Given the description of an element on the screen output the (x, y) to click on. 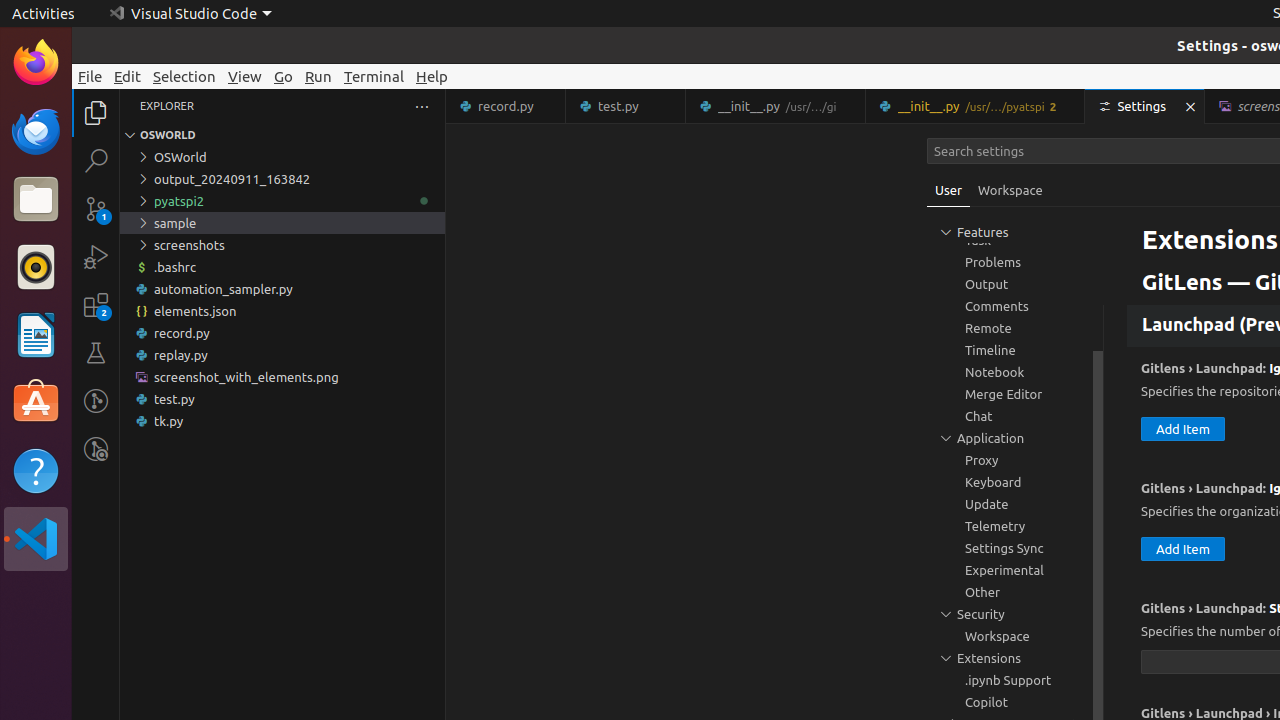
.bashrc Element type: tree-item (282, 267)
Chat, group Element type: tree-item (1015, 416)
Extensions (Ctrl+Shift+X) - 2 require restart Extensions (Ctrl+Shift+X) - 2 require restart Element type: page-tab (96, 305)
Workspace, group Element type: tree-item (1015, 636)
